Given the description of an element on the screen output the (x, y) to click on. 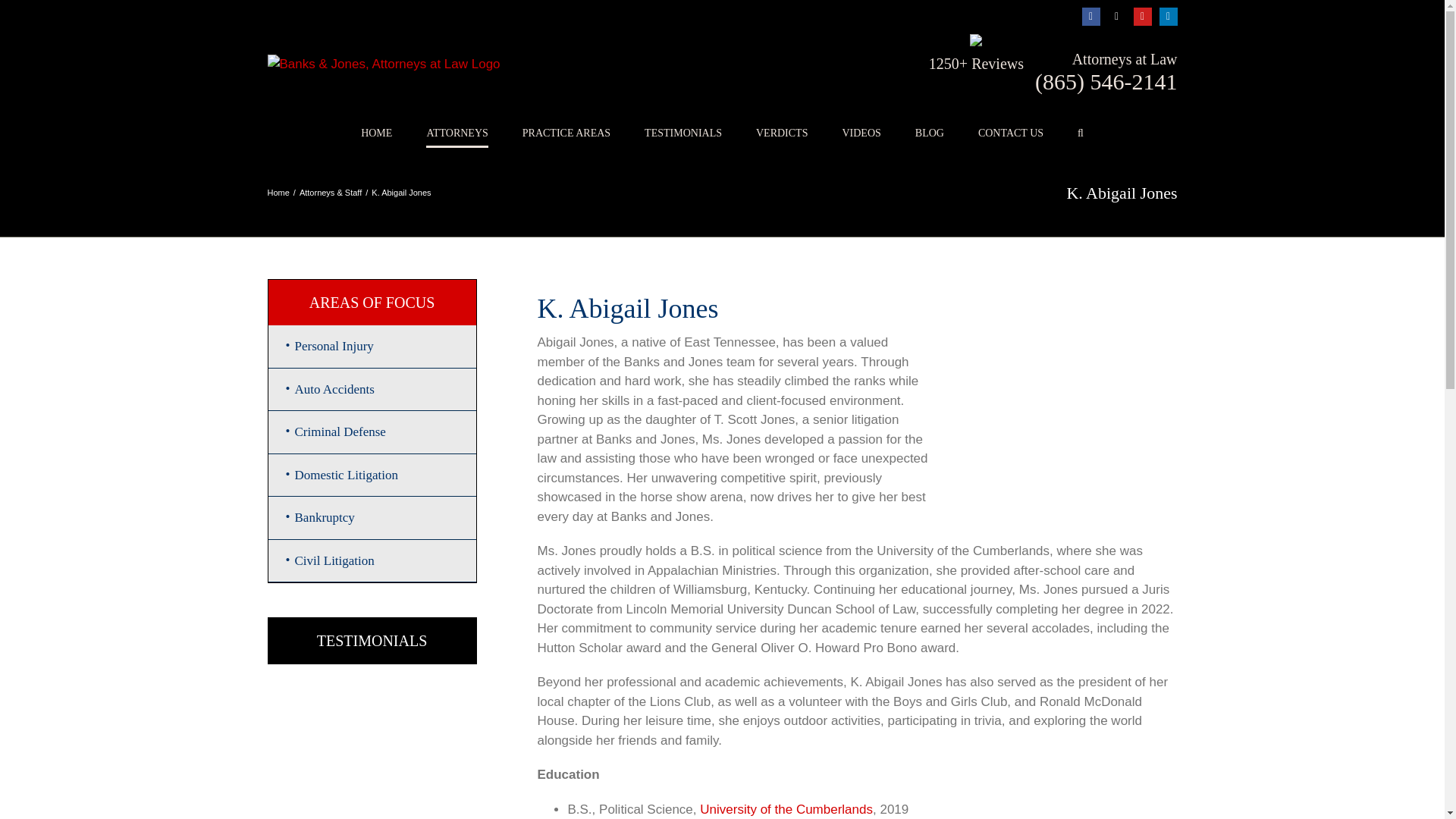
YouTube (1141, 16)
X (1115, 16)
ATTORNEYS (456, 132)
LinkedIn (1167, 16)
Facebook (1090, 16)
LinkedIn (1167, 16)
X (1115, 16)
HOME (376, 132)
Facebook (1090, 16)
PRACTICE AREAS (566, 132)
YouTube (1141, 16)
